Given the description of an element on the screen output the (x, y) to click on. 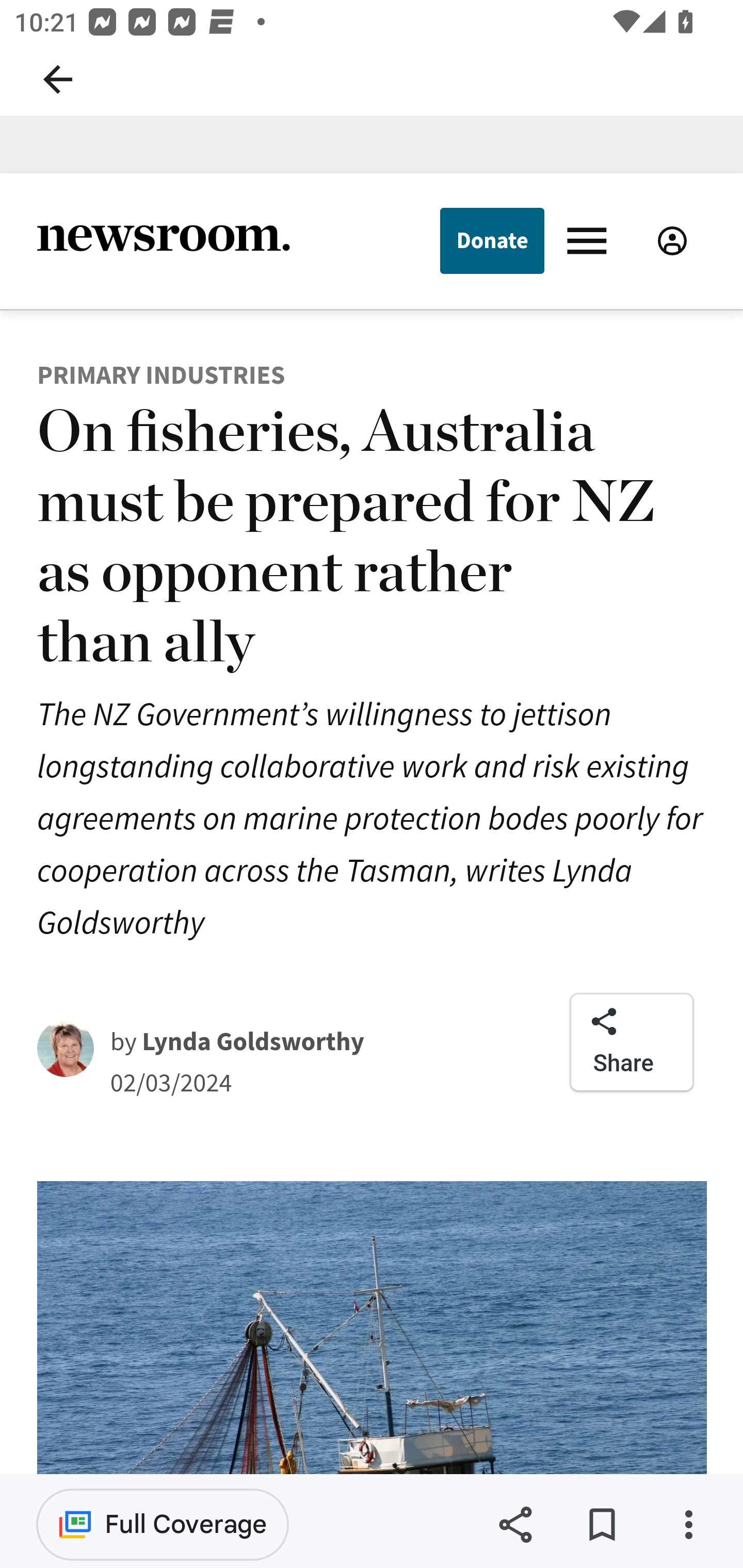
Navigate up (57, 79)
Newsroom (163, 240)
Donate (491, 240)
Sign In (672, 240)
Menu (590, 239)
PRIMARY INDUSTRIES (160, 374)
Share  Share (631, 1040)
Lynda Goldsworthy (252, 1040)
Share (514, 1524)
Save for later (601, 1524)
More options (688, 1524)
Full Coverage (162, 1524)
